Given the description of an element on the screen output the (x, y) to click on. 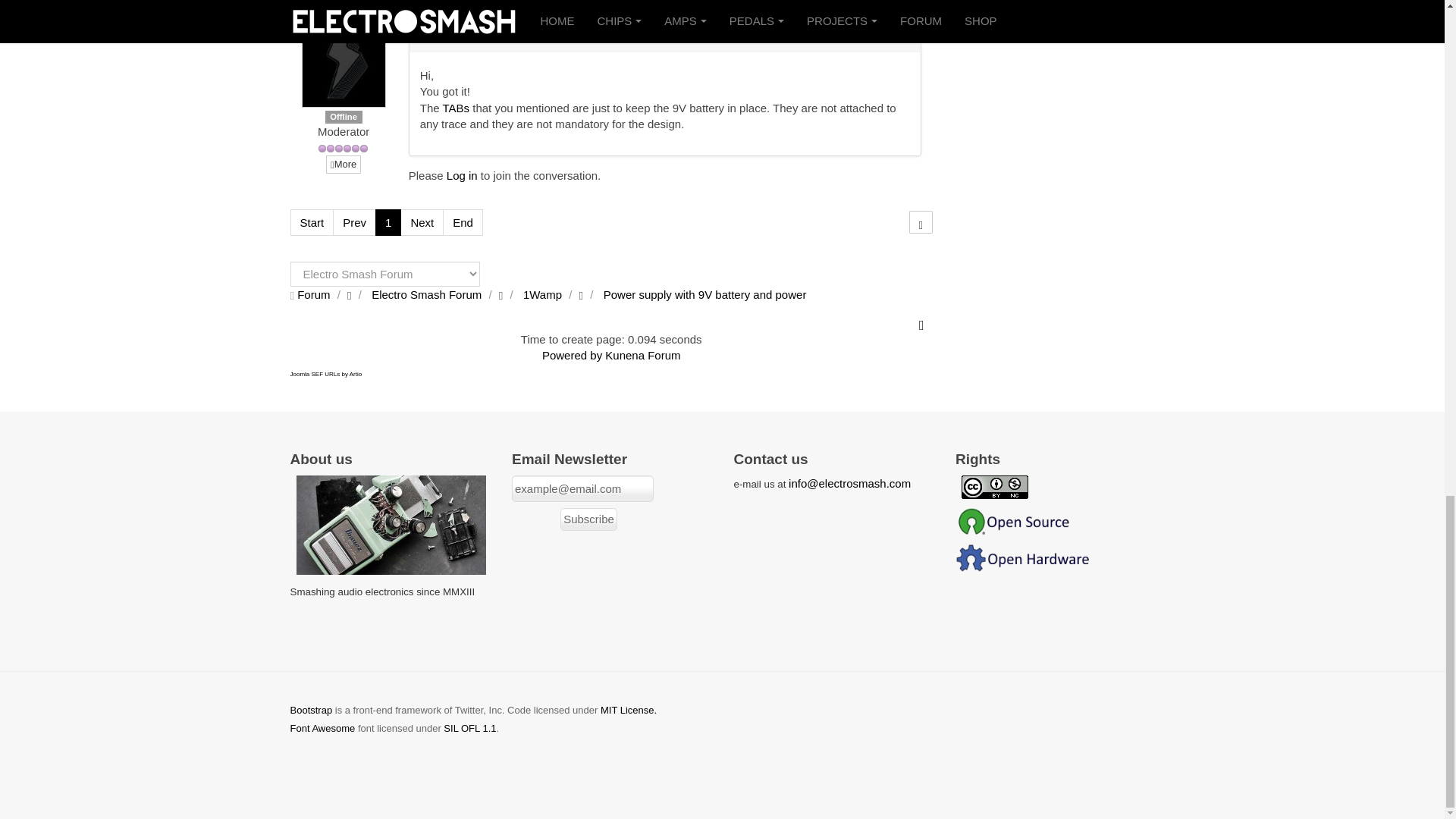
Subscribe (588, 518)
